Given the description of an element on the screen output the (x, y) to click on. 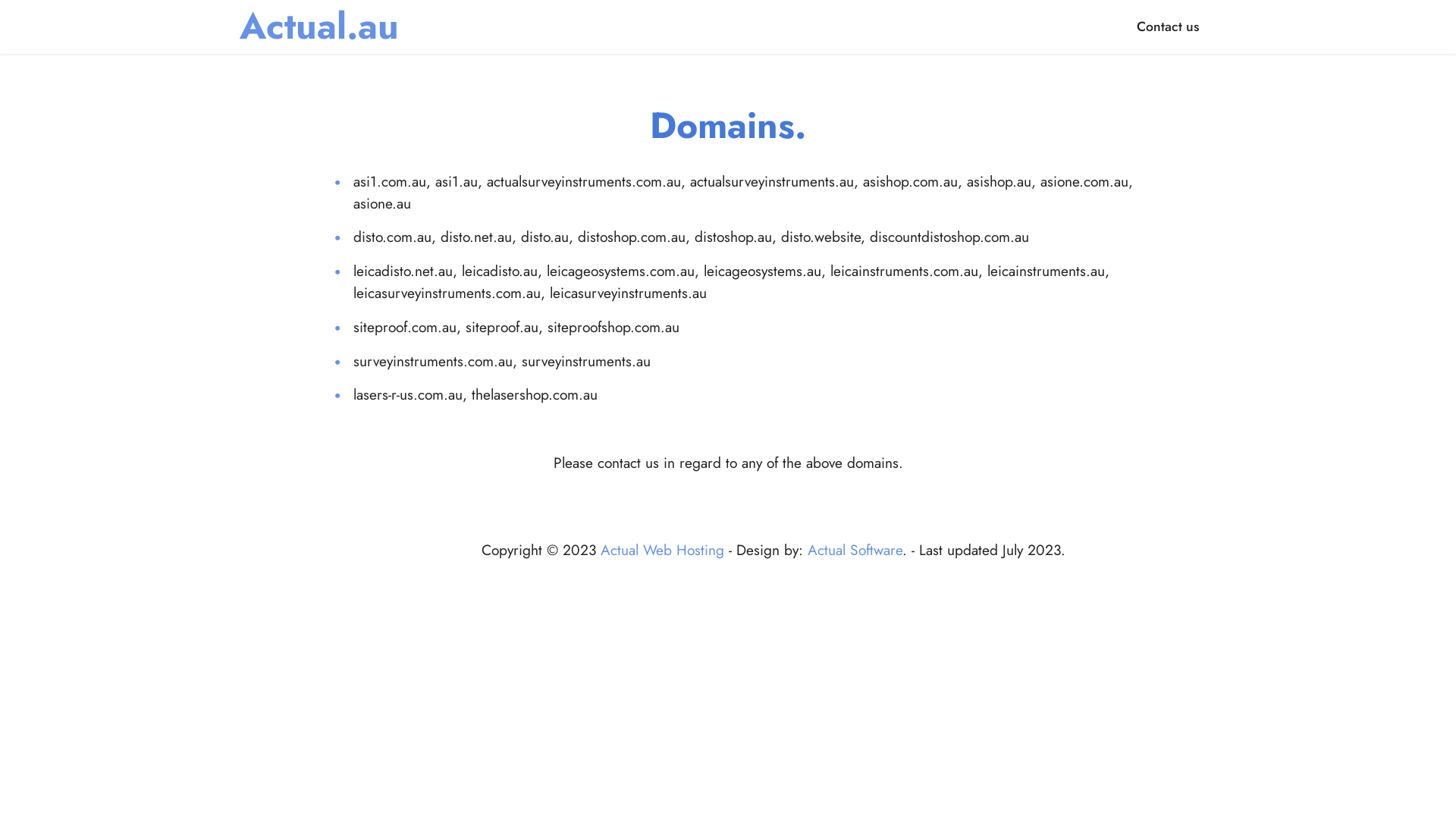
Actual Software Element type: text (854, 549)
Actual.au Element type: text (318, 26)
Actual Web Hosting Element type: text (662, 549)
Contact us Element type: text (1167, 26)
